Given the description of an element on the screen output the (x, y) to click on. 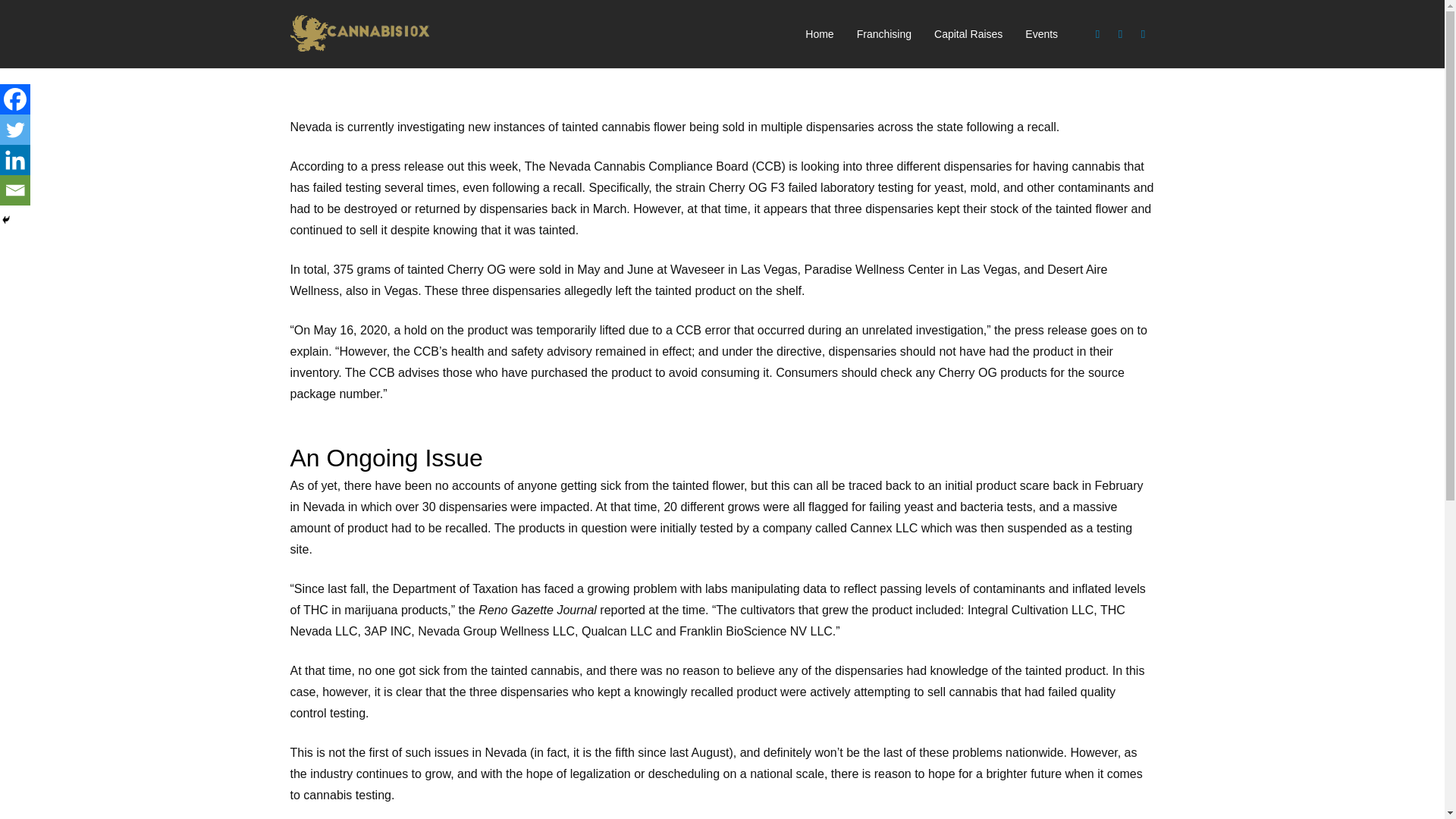
Hide (5, 219)
Linkedin (15, 159)
Franchising (884, 34)
Capital Raises (968, 34)
Home (818, 34)
Facebook (15, 99)
Facebook (1097, 33)
Events (1040, 34)
Email (15, 190)
Twitter (15, 129)
LinkedIn (1143, 33)
Twitter (1120, 33)
